Given the description of an element on the screen output the (x, y) to click on. 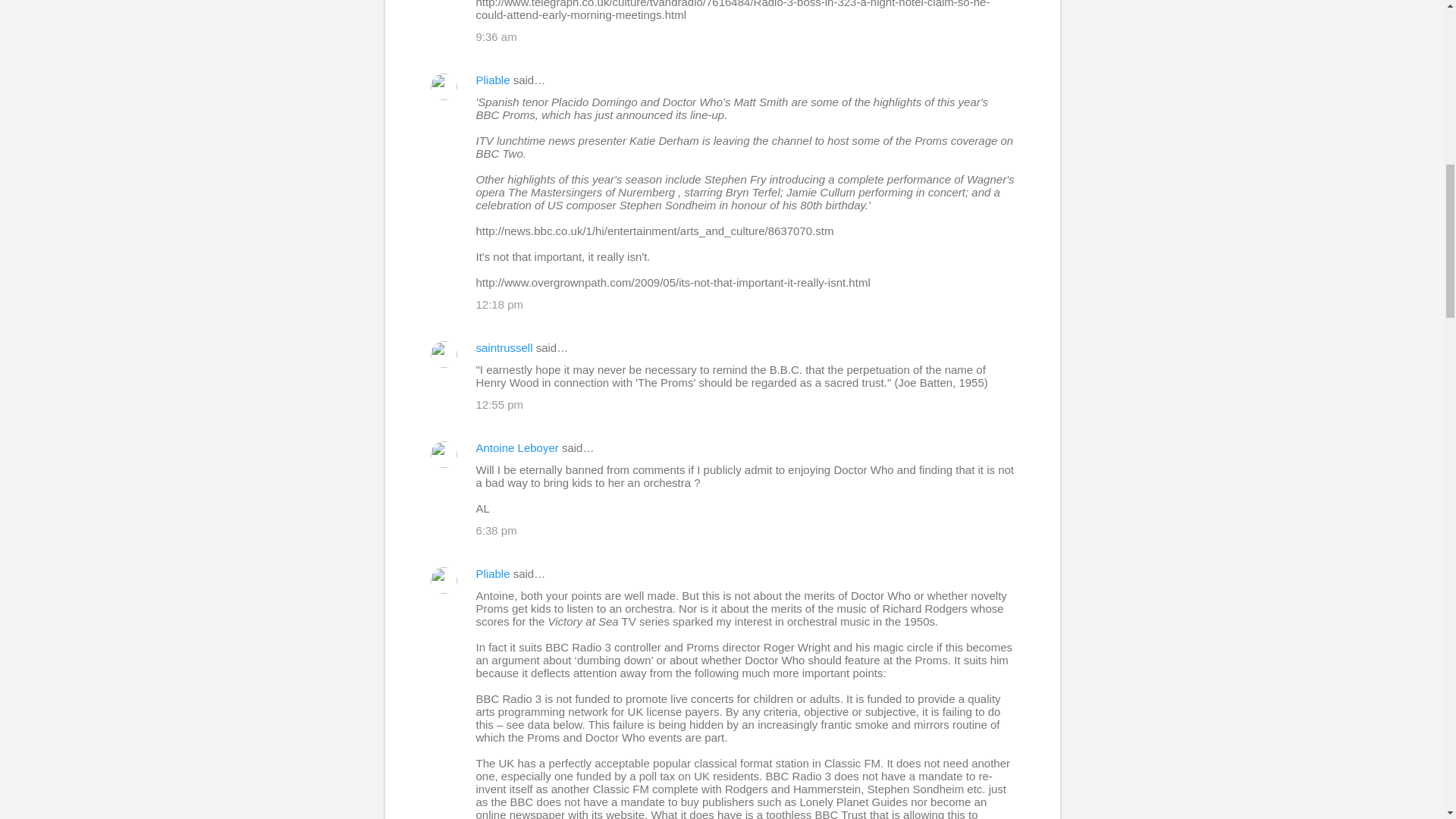
9:36 am (496, 36)
Antoine Leboyer (517, 447)
12:55 pm (500, 404)
Pliable (493, 573)
saintrussell (504, 347)
12:18 pm (500, 304)
6:38 pm (496, 530)
Pliable (493, 79)
comment permalink (496, 36)
